Given the description of an element on the screen output the (x, y) to click on. 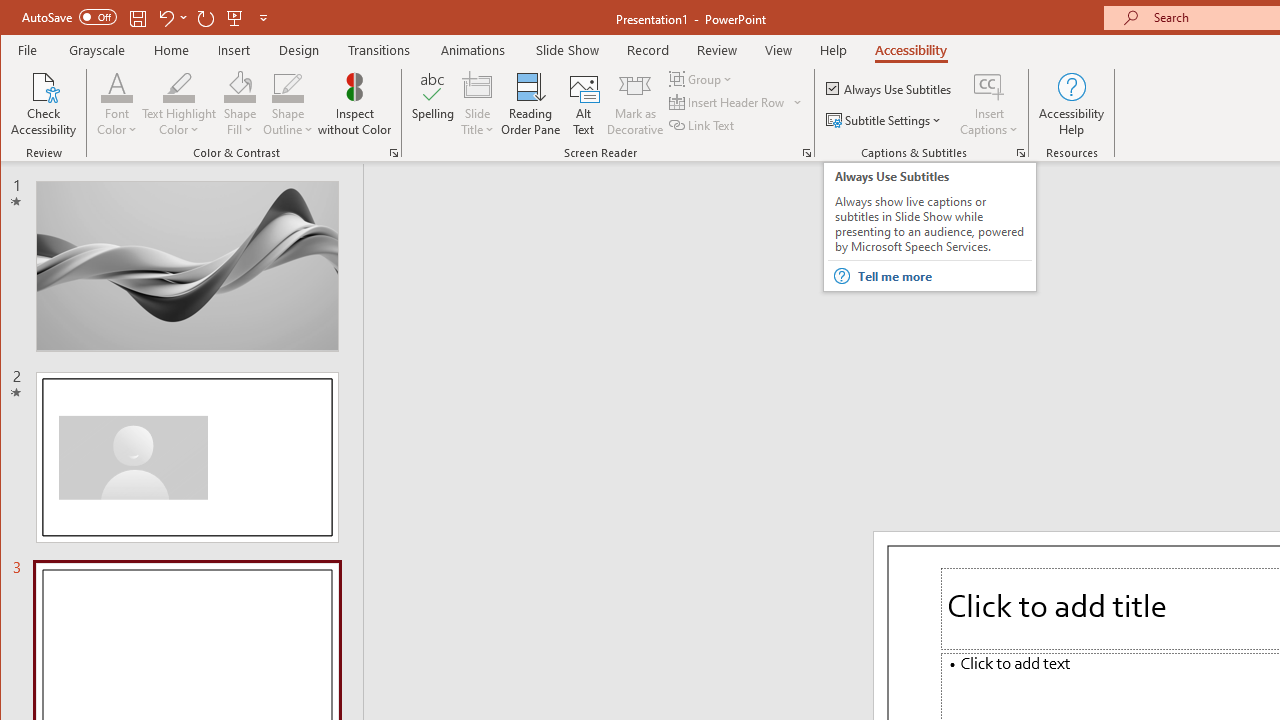
Tell me more (943, 276)
Reading Order Pane (531, 104)
Group (701, 78)
Inspect without Color (355, 104)
Slide Title (477, 86)
Grayscale (97, 50)
Captions & Subtitles (1020, 152)
Accessibility Help (1071, 104)
